Given the description of an element on the screen output the (x, y) to click on. 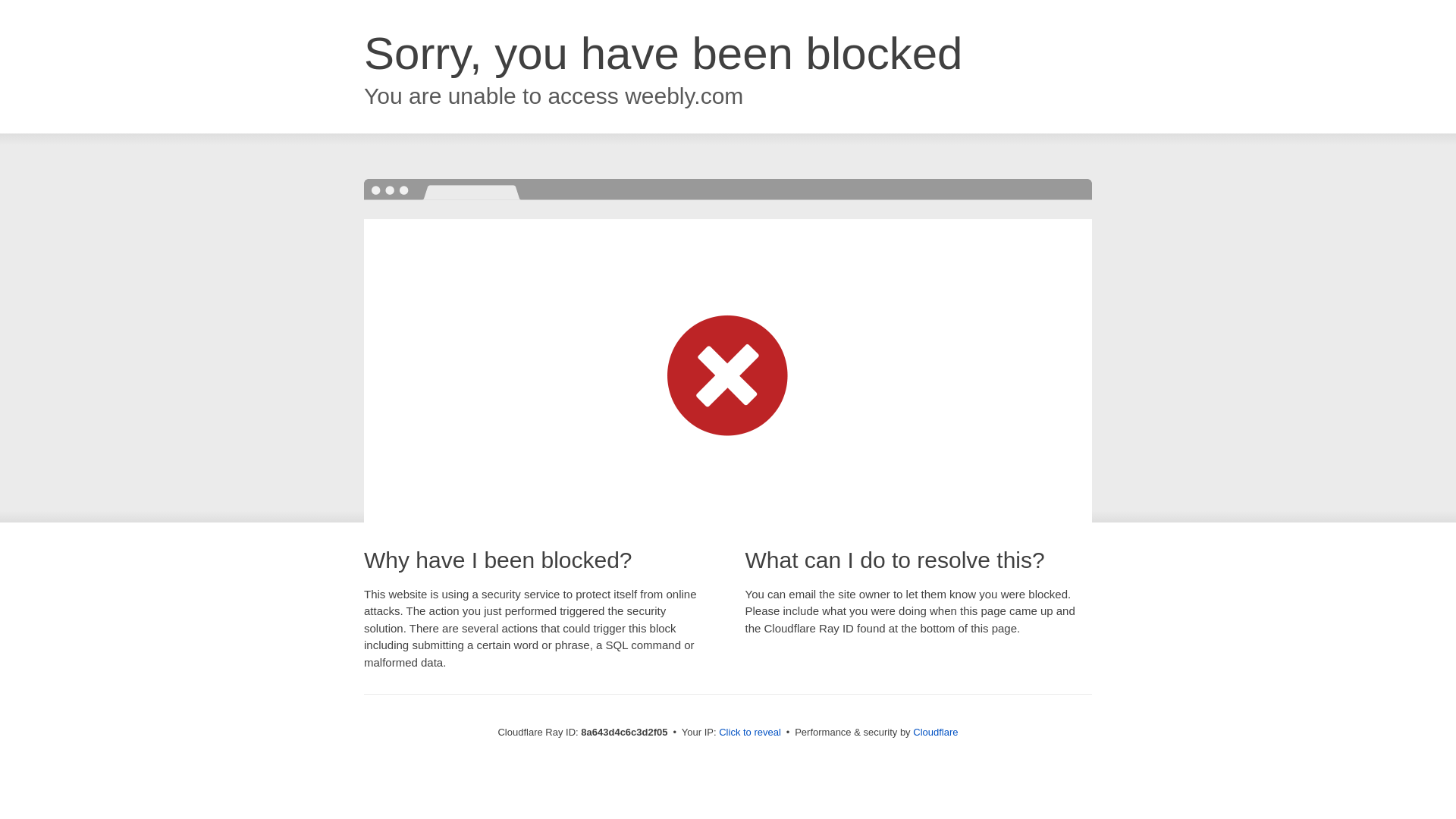
Cloudflare (935, 731)
Click to reveal (749, 732)
